Given the description of an element on the screen output the (x, y) to click on. 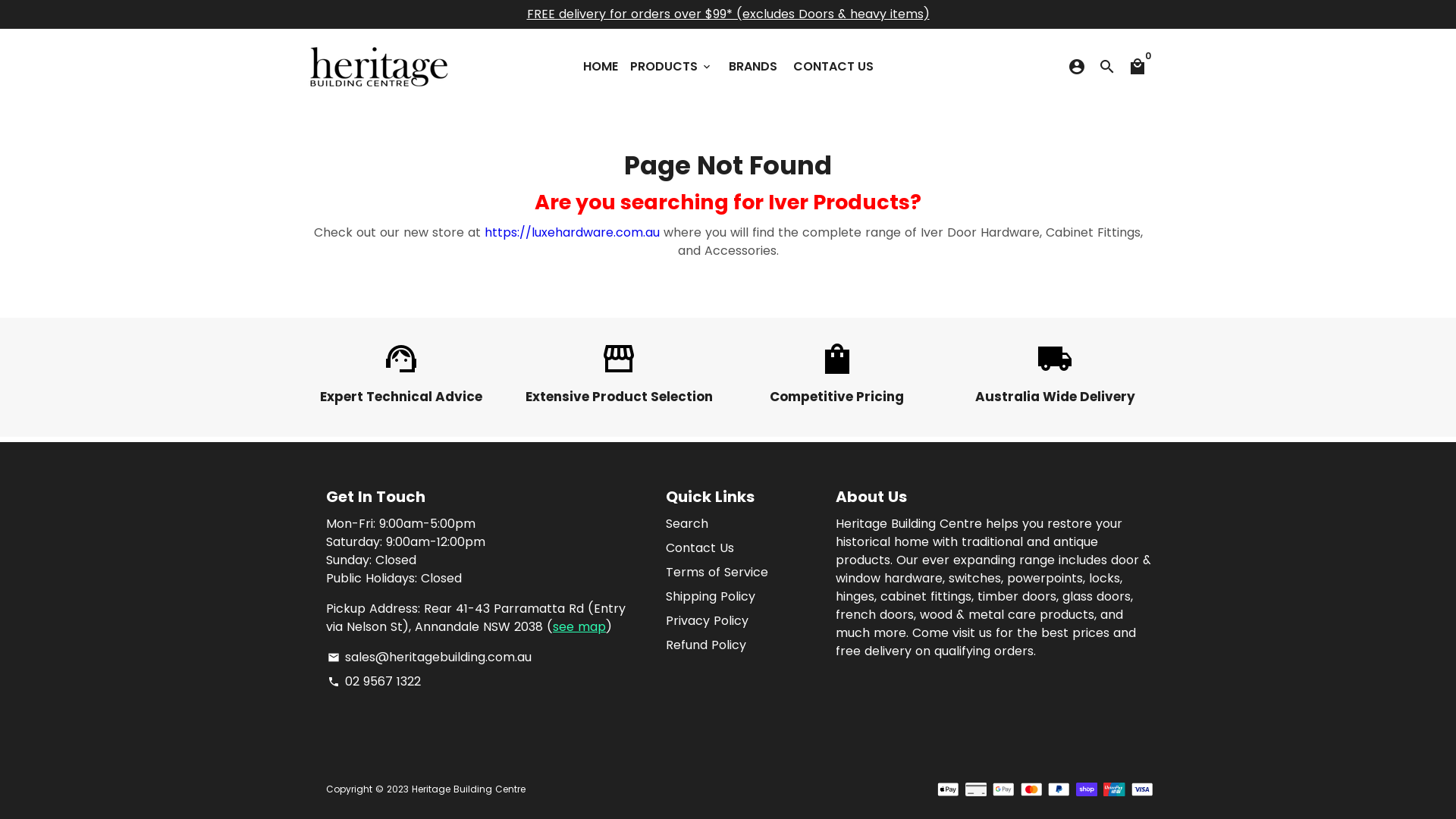
see map Element type: text (578, 626)
account_circle Element type: text (1076, 66)
Shipping Policy Element type: text (710, 596)
local_mall
0 Element type: text (1137, 66)
CONTACT US Element type: text (833, 66)
HOME Element type: text (599, 66)
Heritage Building Centre Element type: text (468, 788)
https://luxehardware.com.au Element type: text (570, 232)
Refund Policy Element type: text (705, 645)
Contact Us Element type: text (699, 548)
phone 02 9567 1322 Element type: text (373, 681)
Privacy Policy Element type: text (706, 620)
BRANDS Element type: text (751, 66)
Search Element type: text (686, 523)
email sales@heritagebuilding.com.au Element type: text (428, 657)
Skip to content Element type: text (0, 0)
Terms of Service Element type: text (716, 572)
search Element type: text (1107, 66)
PRODUCTS keyboard_arrow_down Element type: text (670, 66)
